Given the description of an element on the screen output the (x, y) to click on. 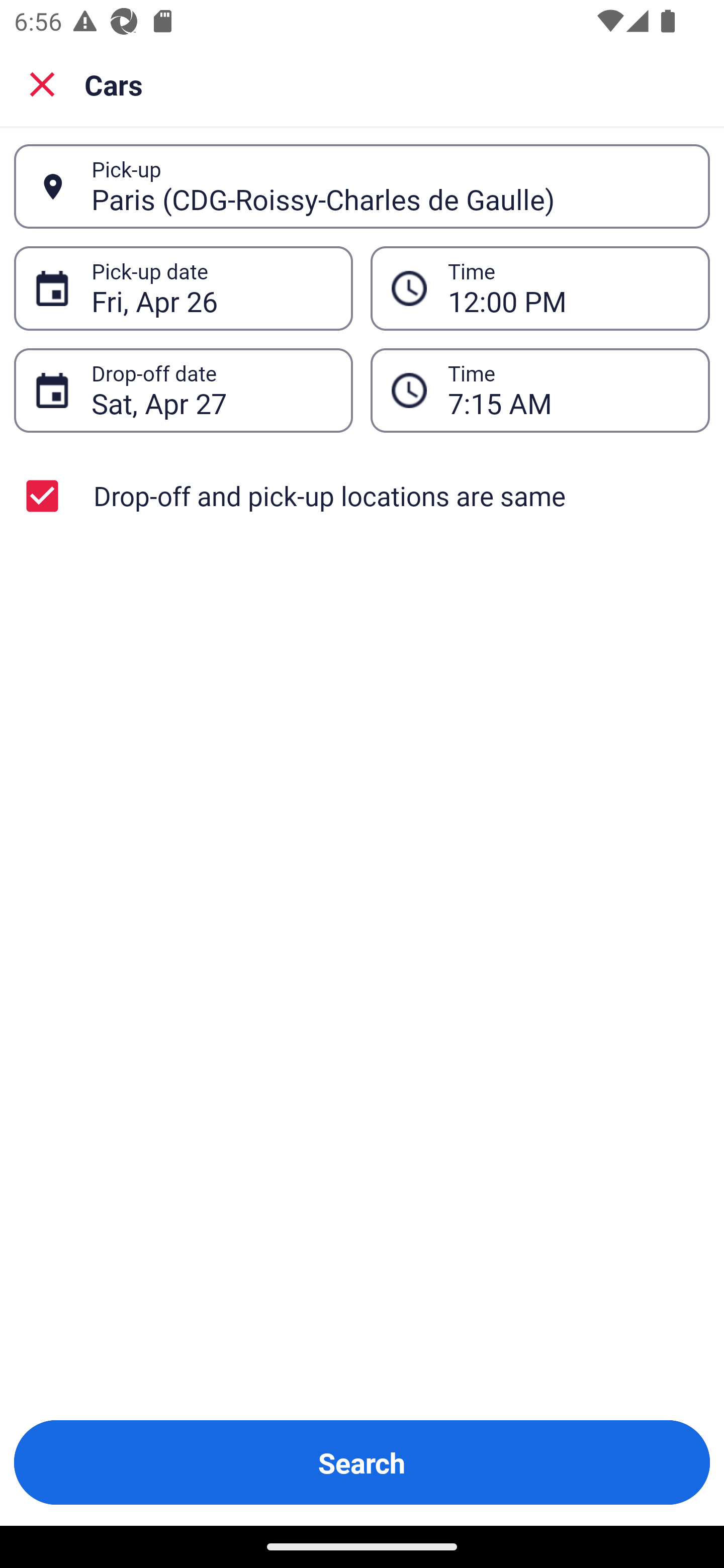
Close search screen (41, 83)
Paris (CDG-Roissy-Charles de Gaulle) Pick-up (361, 186)
Paris (CDG-Roissy-Charles de Gaulle) (389, 186)
Fri, Apr 26 Pick-up date (183, 288)
12:00 PM (540, 288)
Fri, Apr 26 (211, 288)
12:00 PM (568, 288)
Sat, Apr 27 Drop-off date (183, 390)
7:15 AM (540, 390)
Sat, Apr 27 (211, 390)
7:15 AM (568, 390)
Drop-off and pick-up locations are same (361, 495)
Search Button Search (361, 1462)
